Given the description of an element on the screen output the (x, y) to click on. 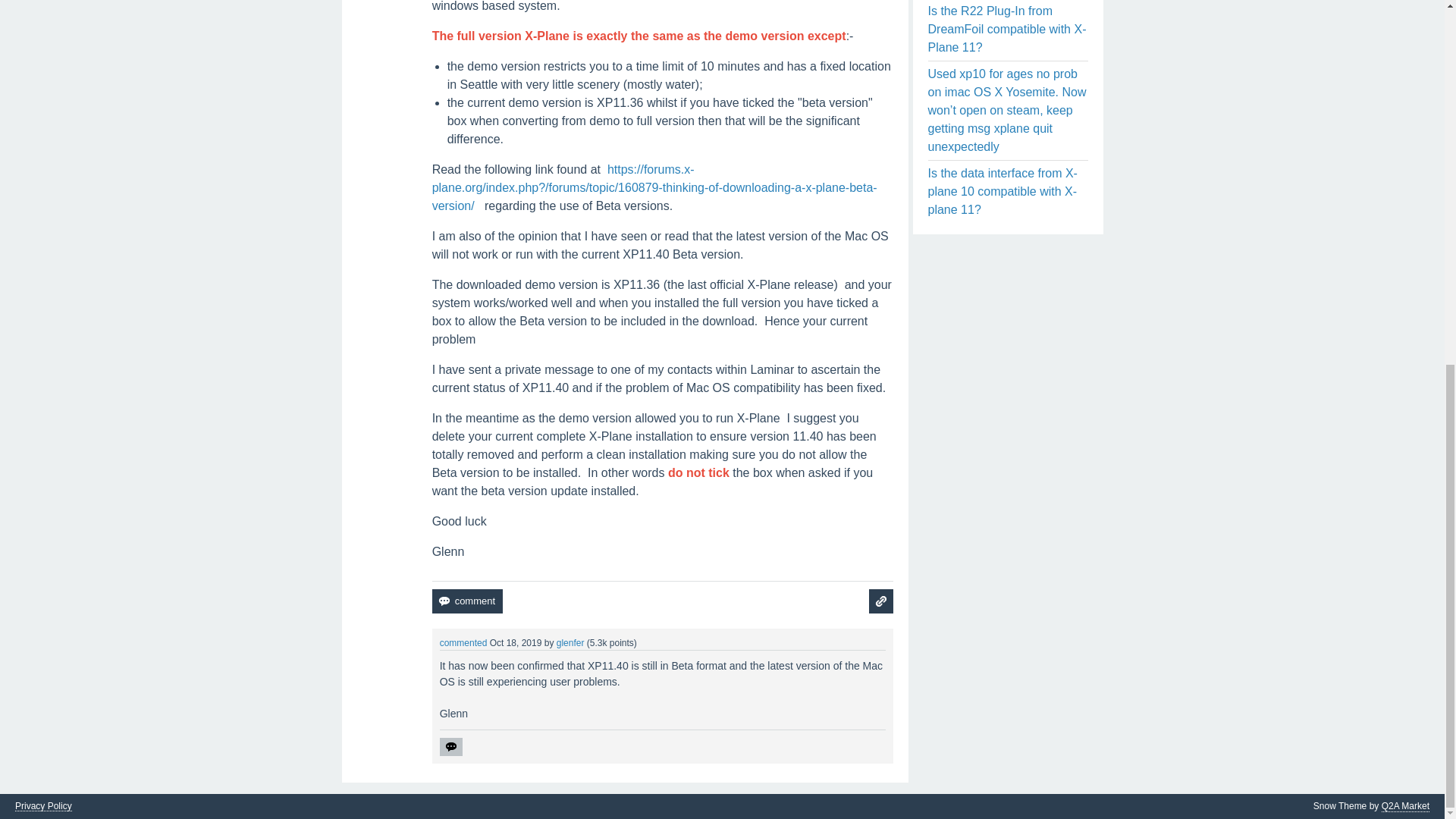
Add a comment on this answer (467, 600)
ask related question (881, 600)
glenfer (570, 643)
commented (463, 643)
reply (451, 746)
Reply to this comment (451, 746)
Ask a new question relating to this answer (881, 600)
reply (451, 746)
comment (467, 600)
ask related question (881, 600)
comment (467, 600)
